Given the description of an element on the screen output the (x, y) to click on. 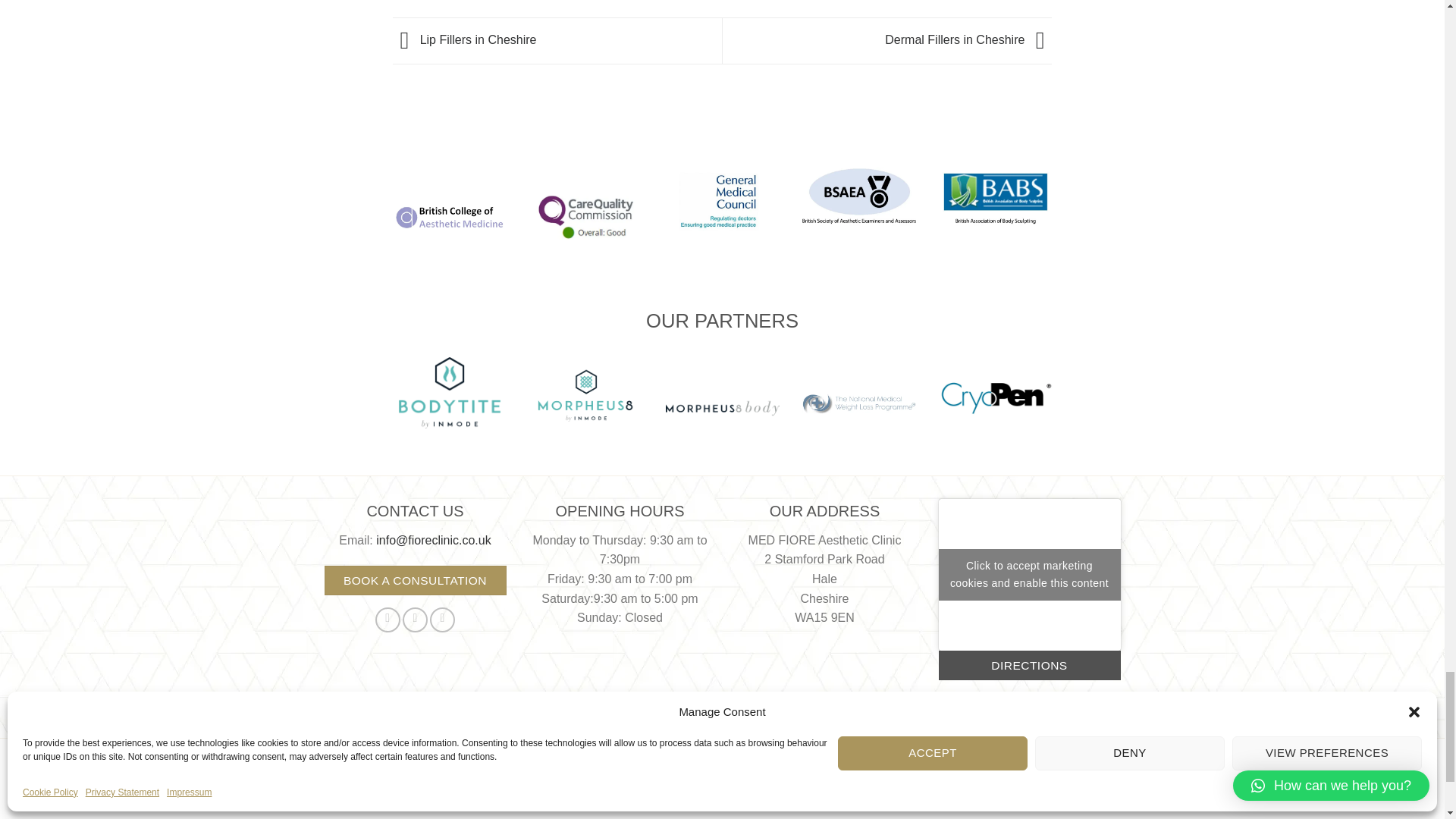
Follow on Facebook (387, 619)
